Given the description of an element on the screen output the (x, y) to click on. 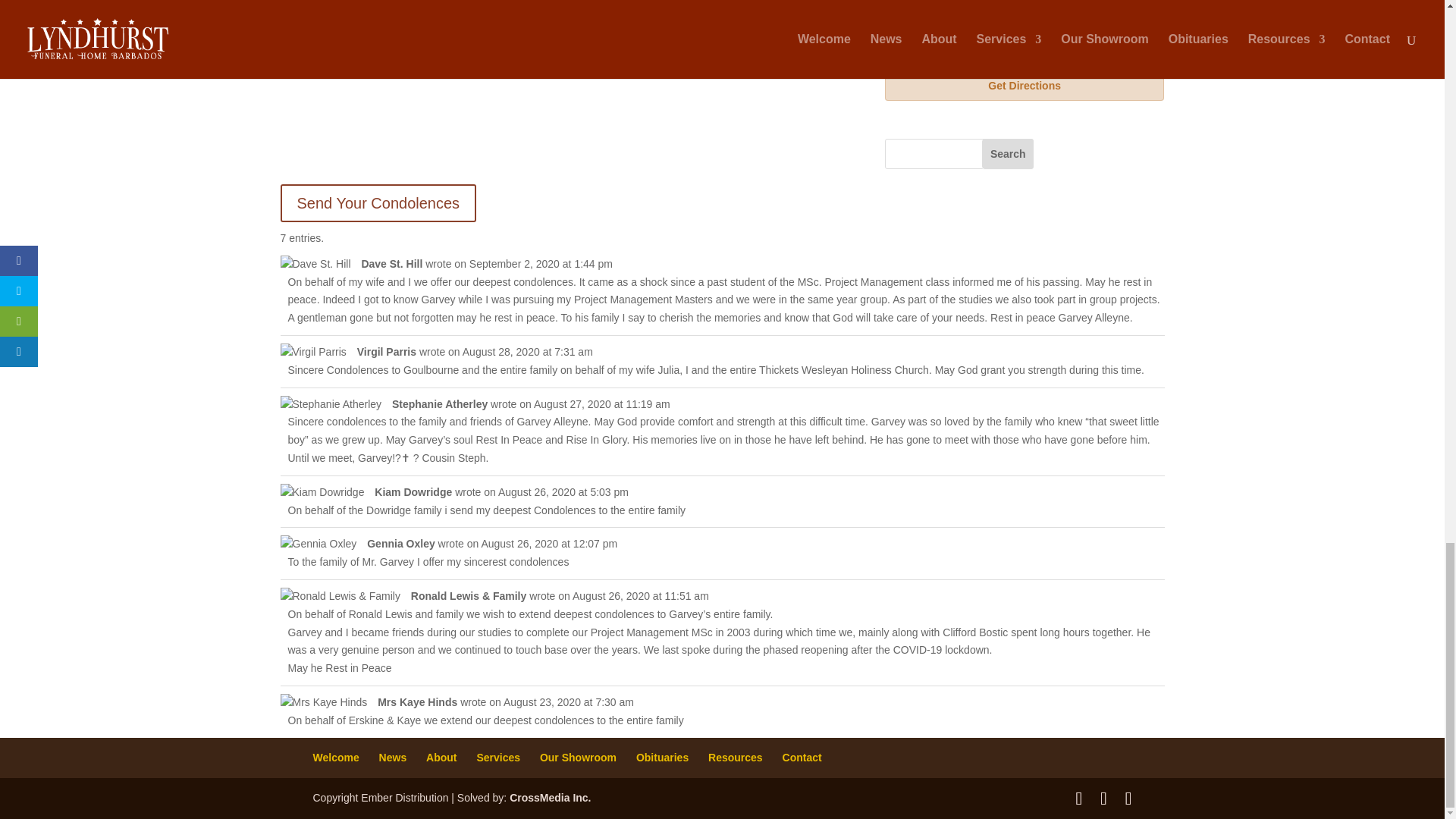
Send Your Condolences (379, 202)
Get Directions (1024, 85)
Search (1007, 153)
Get Directions (1024, 85)
Search (1007, 153)
